Given the description of an element on the screen output the (x, y) to click on. 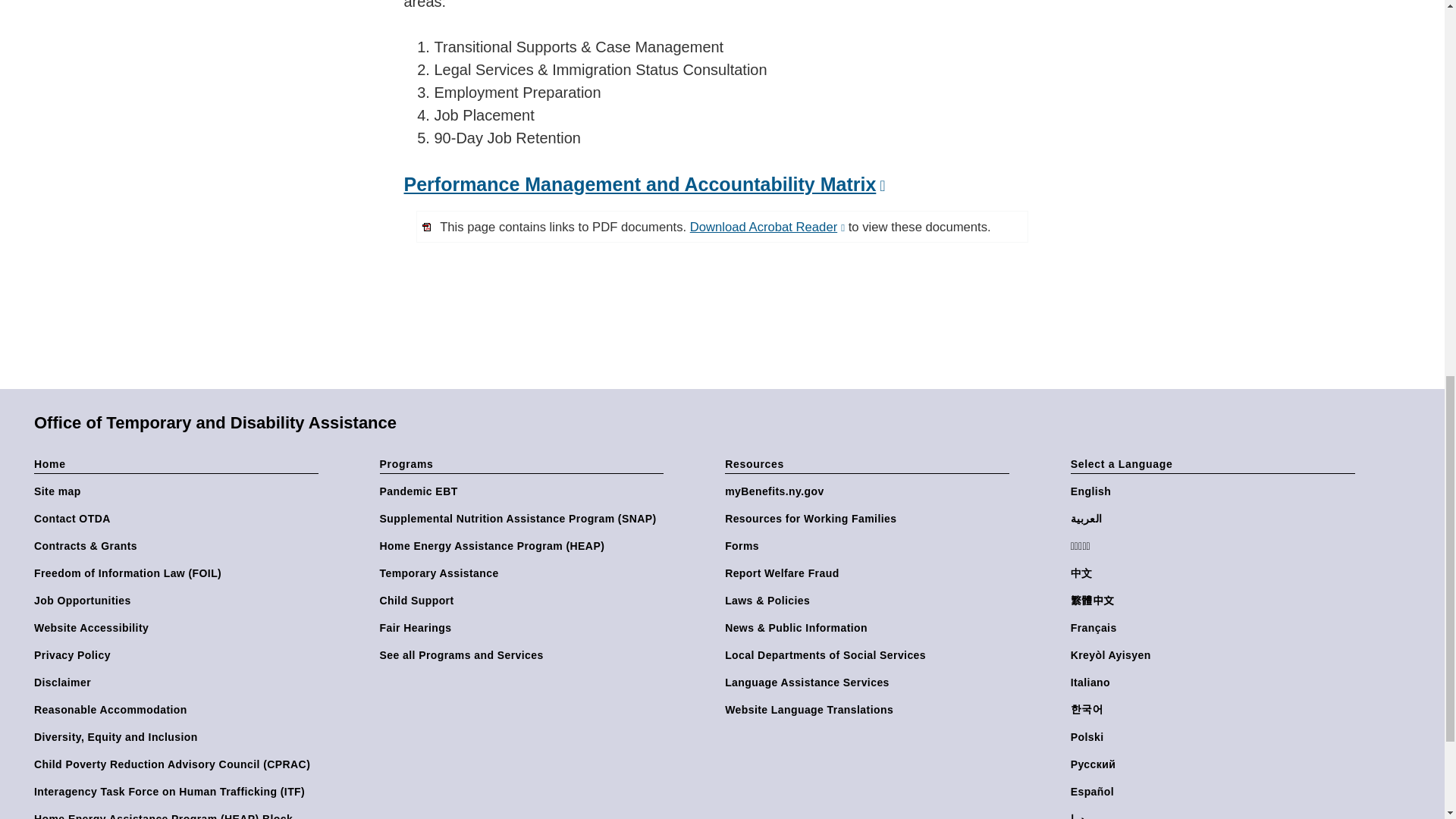
Job Opportunities (178, 600)
Urdu (1215, 815)
Korean (1215, 709)
Polish (1215, 736)
Download Acrobat Reader (767, 227)
Website Accessibility (178, 627)
Privacy Policy (178, 654)
French (1215, 627)
Simplified Chinese (1215, 572)
Traditional Chinese (1215, 600)
